Given the description of an element on the screen output the (x, y) to click on. 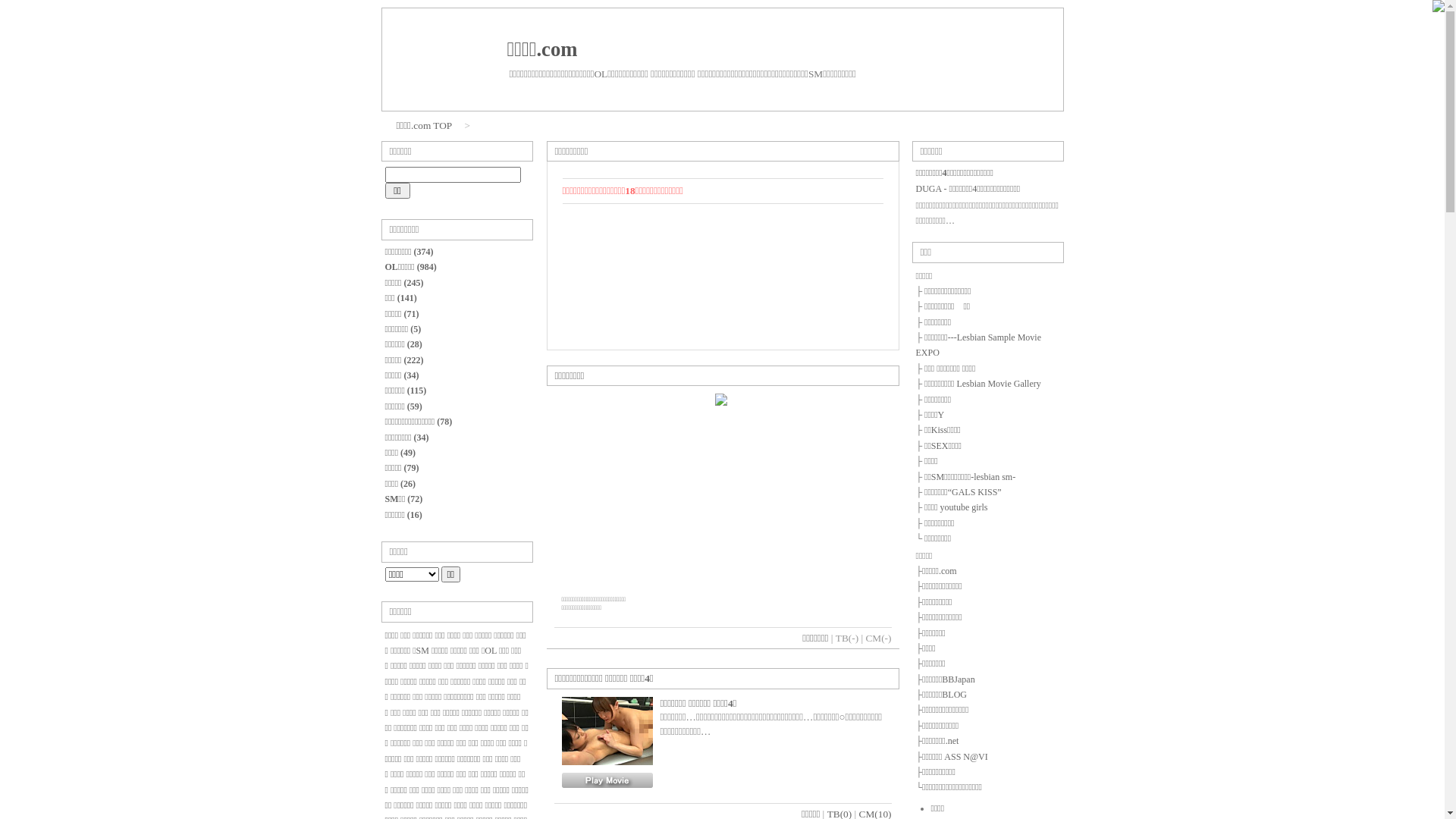
SM Element type: text (422, 650)
OL Element type: text (490, 650)
